Given the description of an element on the screen output the (x, y) to click on. 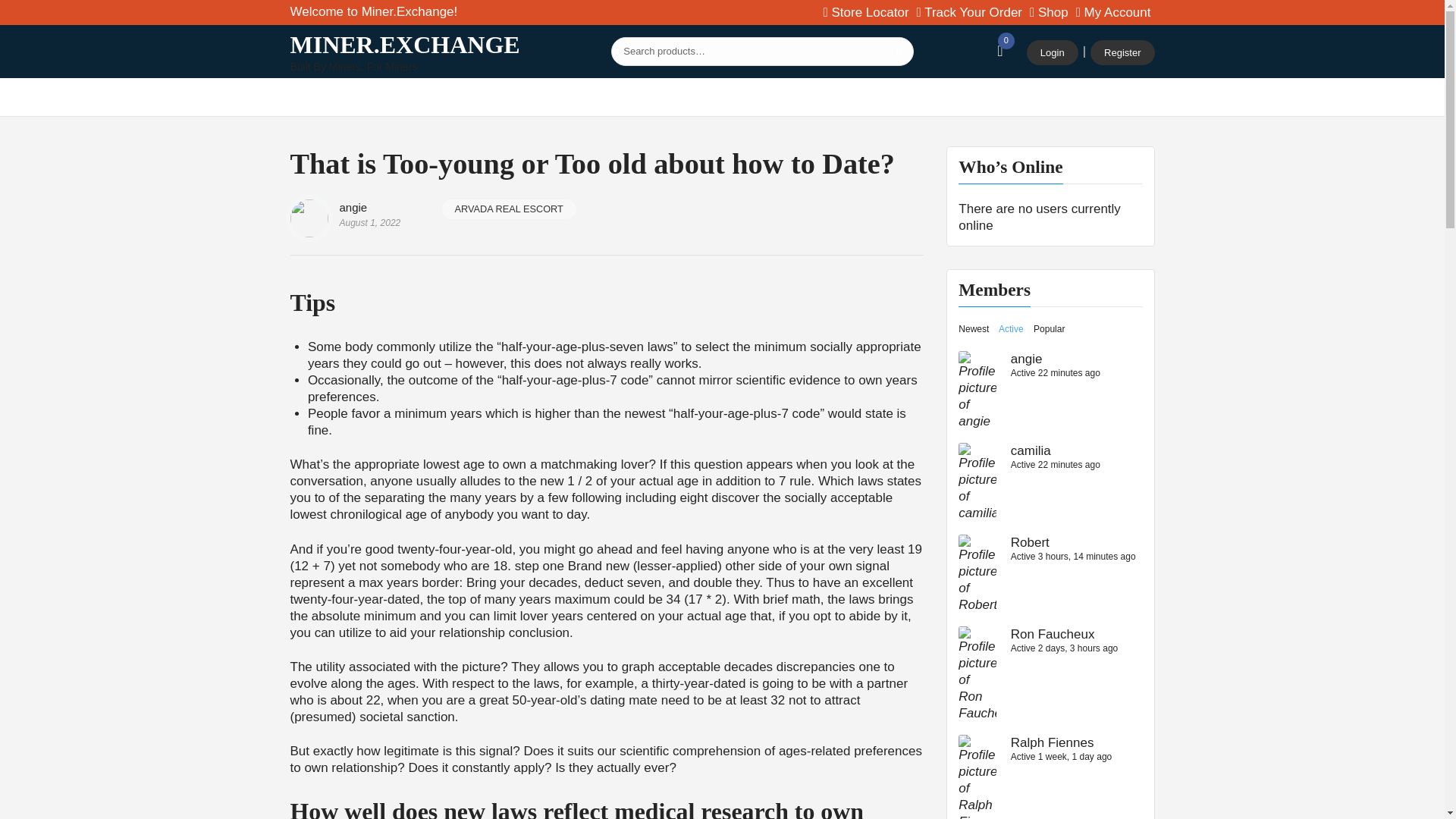
My Account (1113, 12)
Store Locator (866, 12)
Account (1113, 12)
Storemate Features (541, 96)
Shop (1048, 12)
Login (1052, 53)
Search (898, 50)
Cart (1048, 12)
Home (317, 96)
Login (1052, 53)
Order (969, 12)
Pages (729, 96)
Shop (374, 96)
Register (1122, 53)
MINER.EXCHANGE (404, 44)
